Given the description of an element on the screen output the (x, y) to click on. 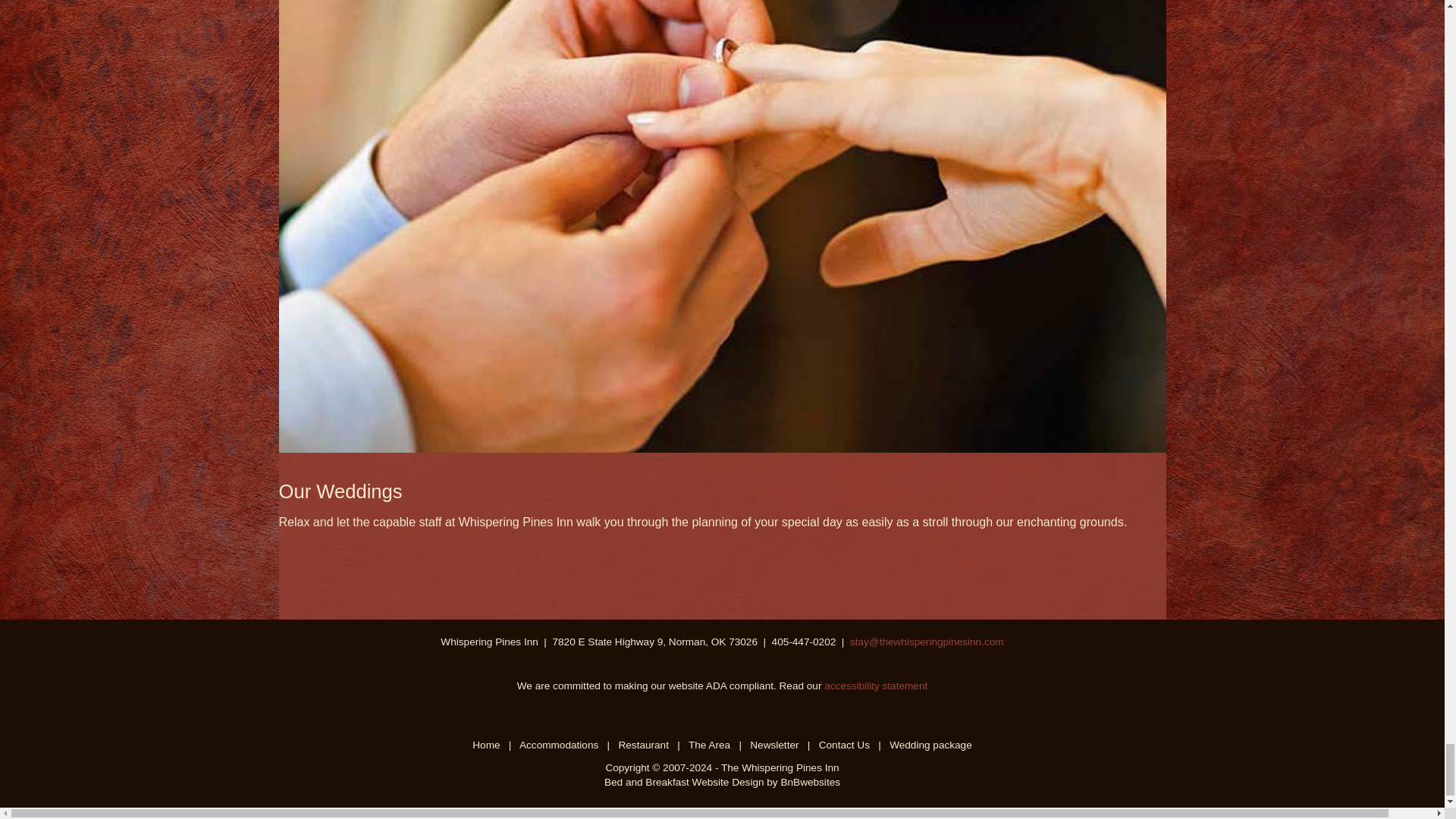
Home (485, 745)
accessibility statement (875, 685)
Newsletter (773, 745)
Restaurant (642, 745)
Accommodations (558, 745)
The Area (709, 745)
